Given the description of an element on the screen output the (x, y) to click on. 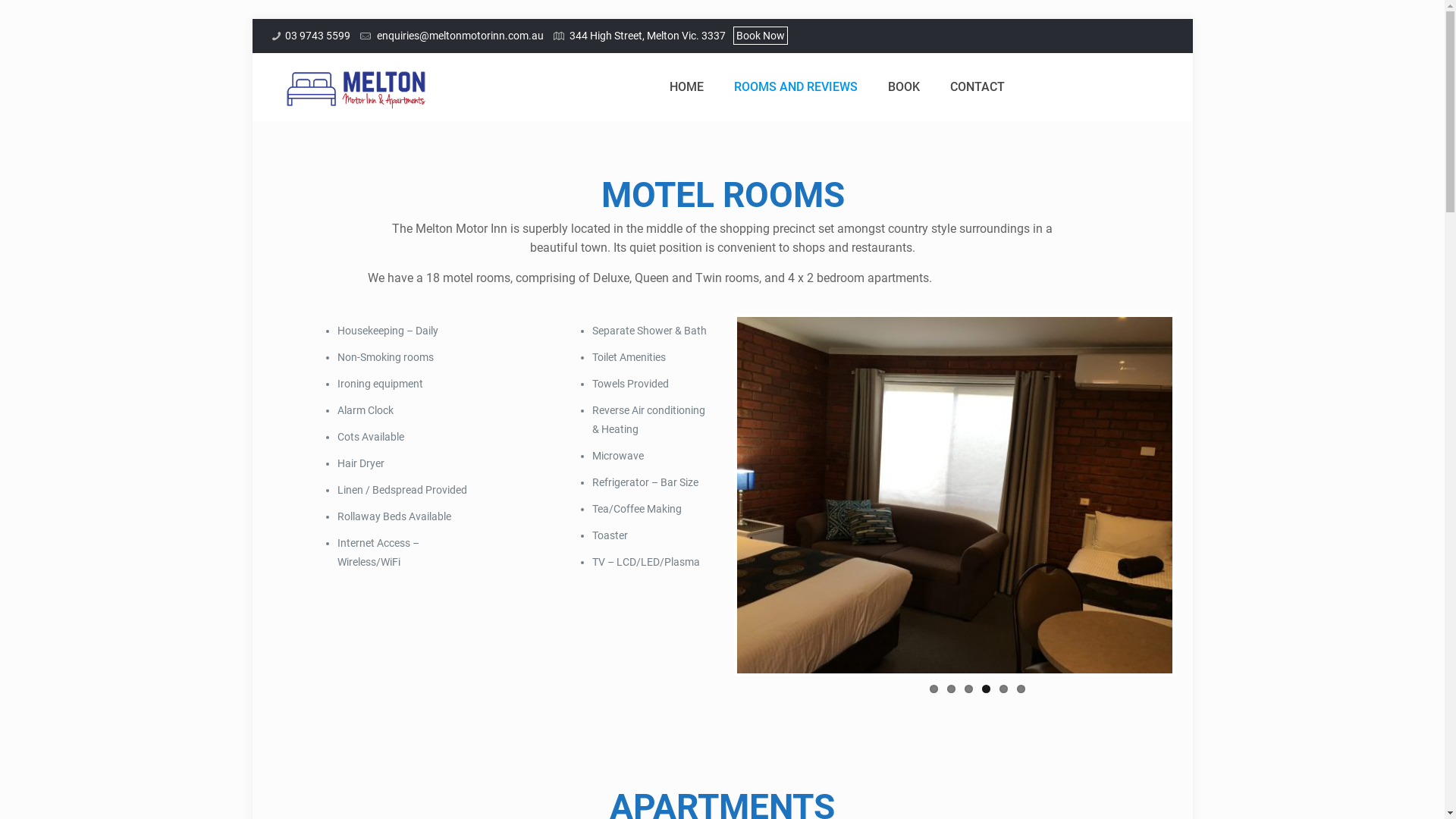
5 Element type: text (1003, 688)
HOME Element type: text (686, 87)
03 9743 5599 Element type: text (317, 35)
CONTACT Element type: text (977, 87)
Book Now Element type: text (760, 35)
1 Element type: text (933, 688)
4 Element type: text (986, 688)
enquiries@meltonmotorinn.com.au Element type: text (458, 35)
melton motor inn Element type: hover (955, 494)
BOOK Element type: text (903, 87)
6 Element type: text (1020, 688)
3 Element type: text (968, 688)
2 Element type: text (951, 688)
ROOMS AND REVIEWS Element type: text (795, 87)
344 High Street, Melton Vic. 3337 Element type: text (646, 35)
Melton Motor Inn Element type: hover (355, 87)
